Given the description of an element on the screen output the (x, y) to click on. 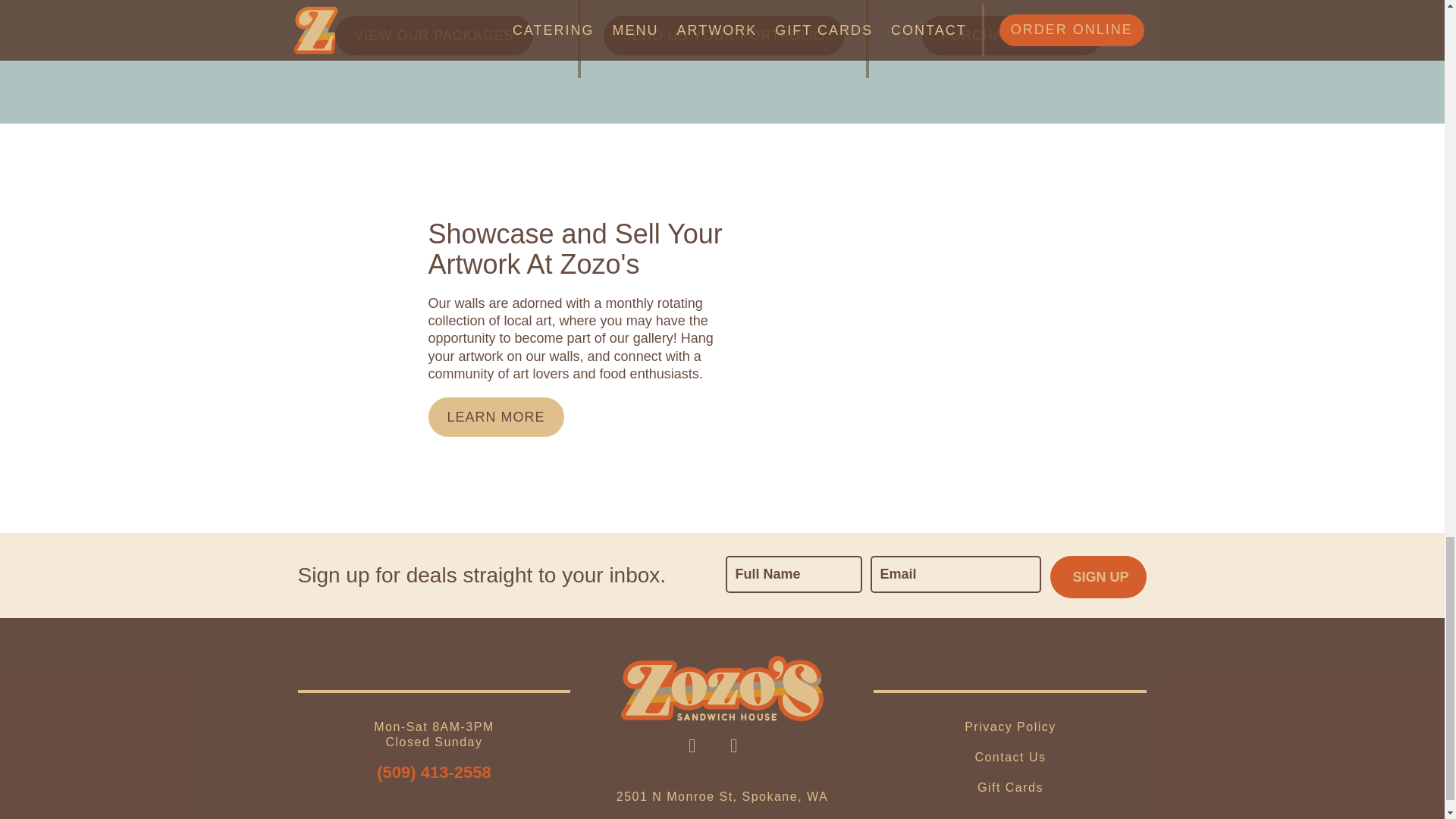
Sign Up (1098, 577)
LEARN MORE (495, 416)
VIEW OUR PACKAGES (433, 35)
Sign Up (1098, 577)
SEND US YOUR PORTFOLIO (724, 35)
PURCHASE ONLINE (1011, 35)
